Given the description of an element on the screen output the (x, y) to click on. 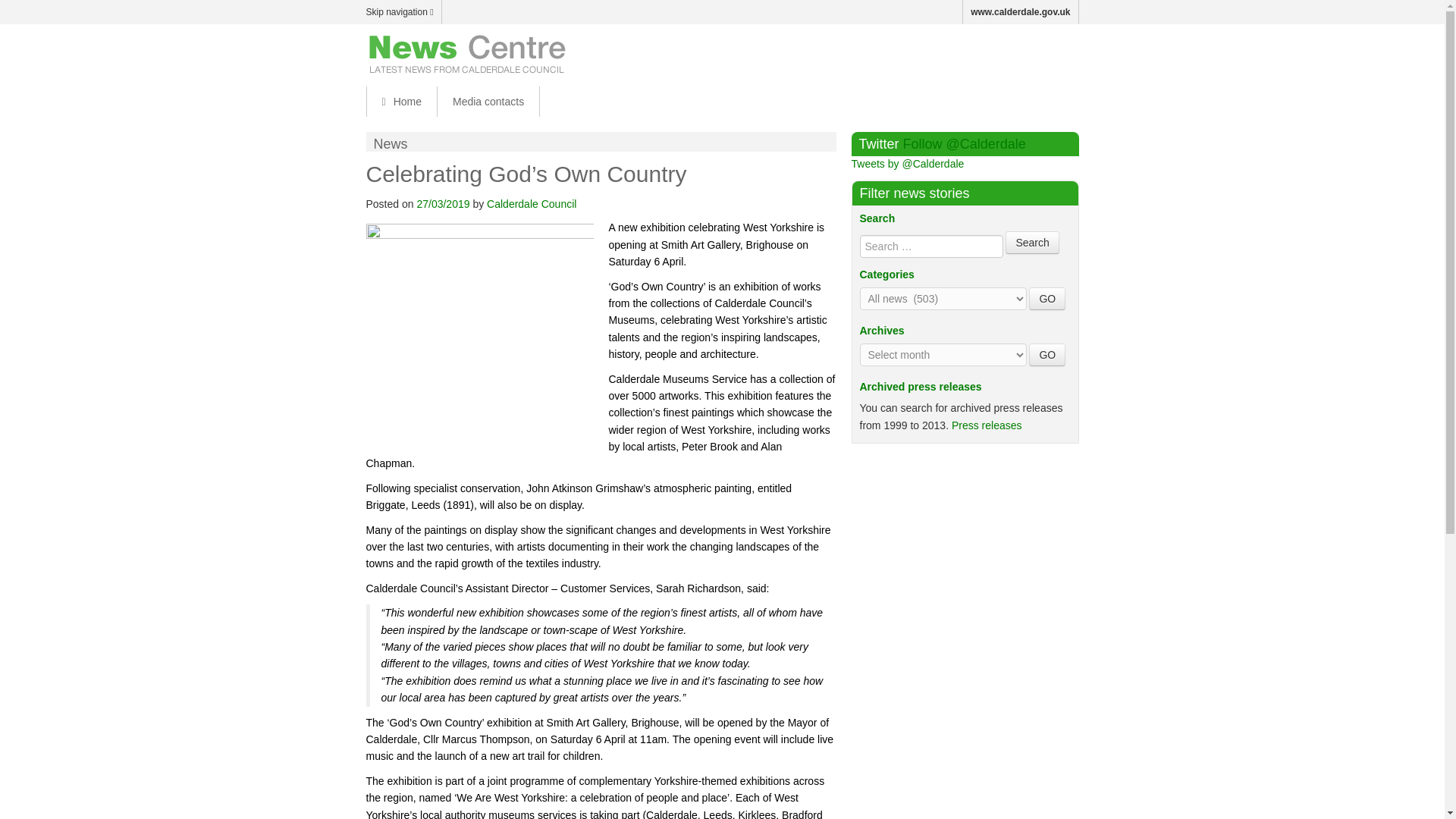
www.calderdale.gov.uk (1020, 12)
Press releases (987, 425)
RSS (1066, 51)
Skip navigation (403, 12)
Search (1032, 241)
Facebook (1002, 51)
Calderdale Council (531, 203)
GO (1047, 298)
Twitter (1034, 51)
Home (400, 101)
